Given the description of an element on the screen output the (x, y) to click on. 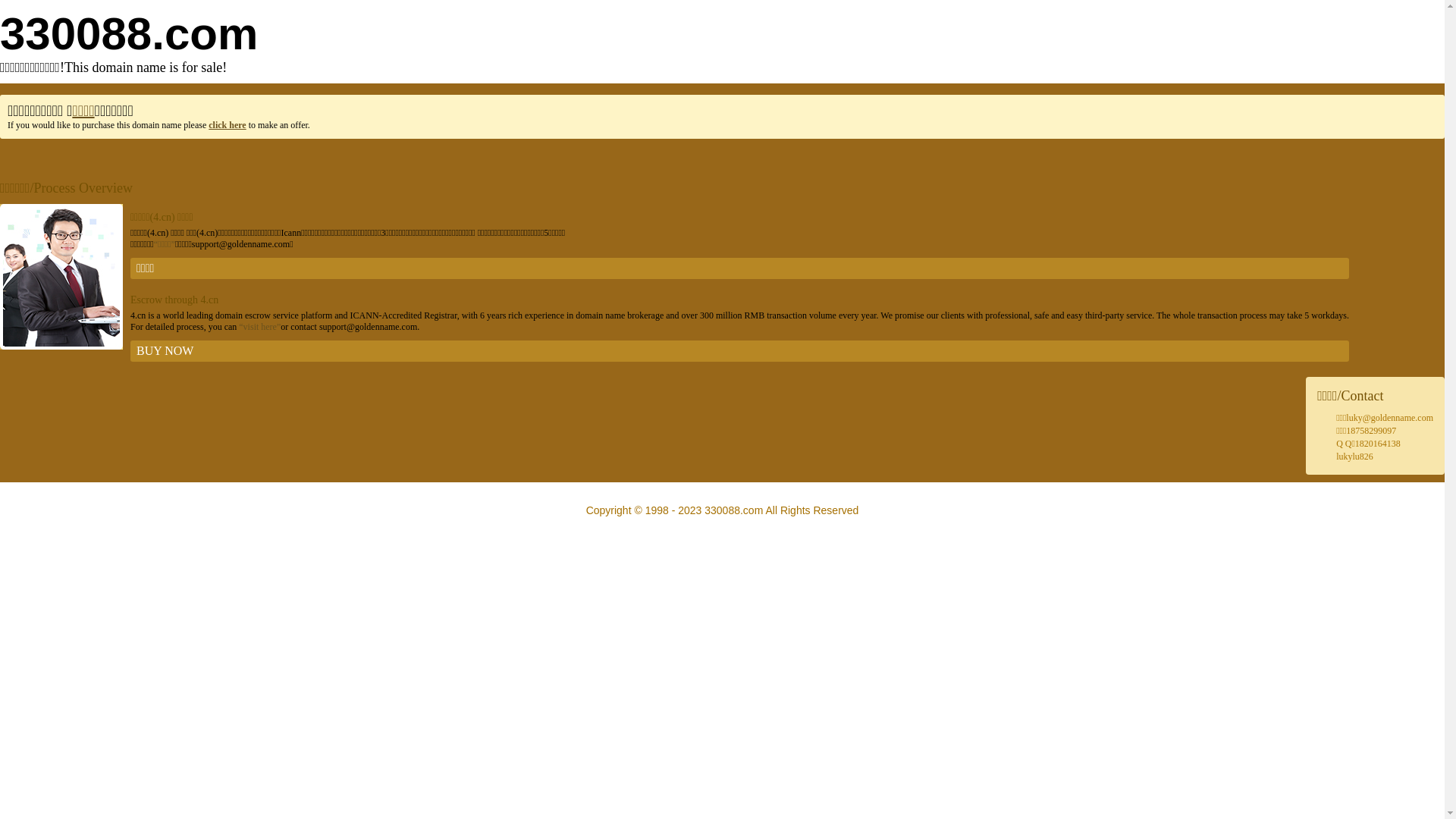
BUY NOW Element type: text (739, 350)
click here Element type: text (226, 124)
